Given the description of an element on the screen output the (x, y) to click on. 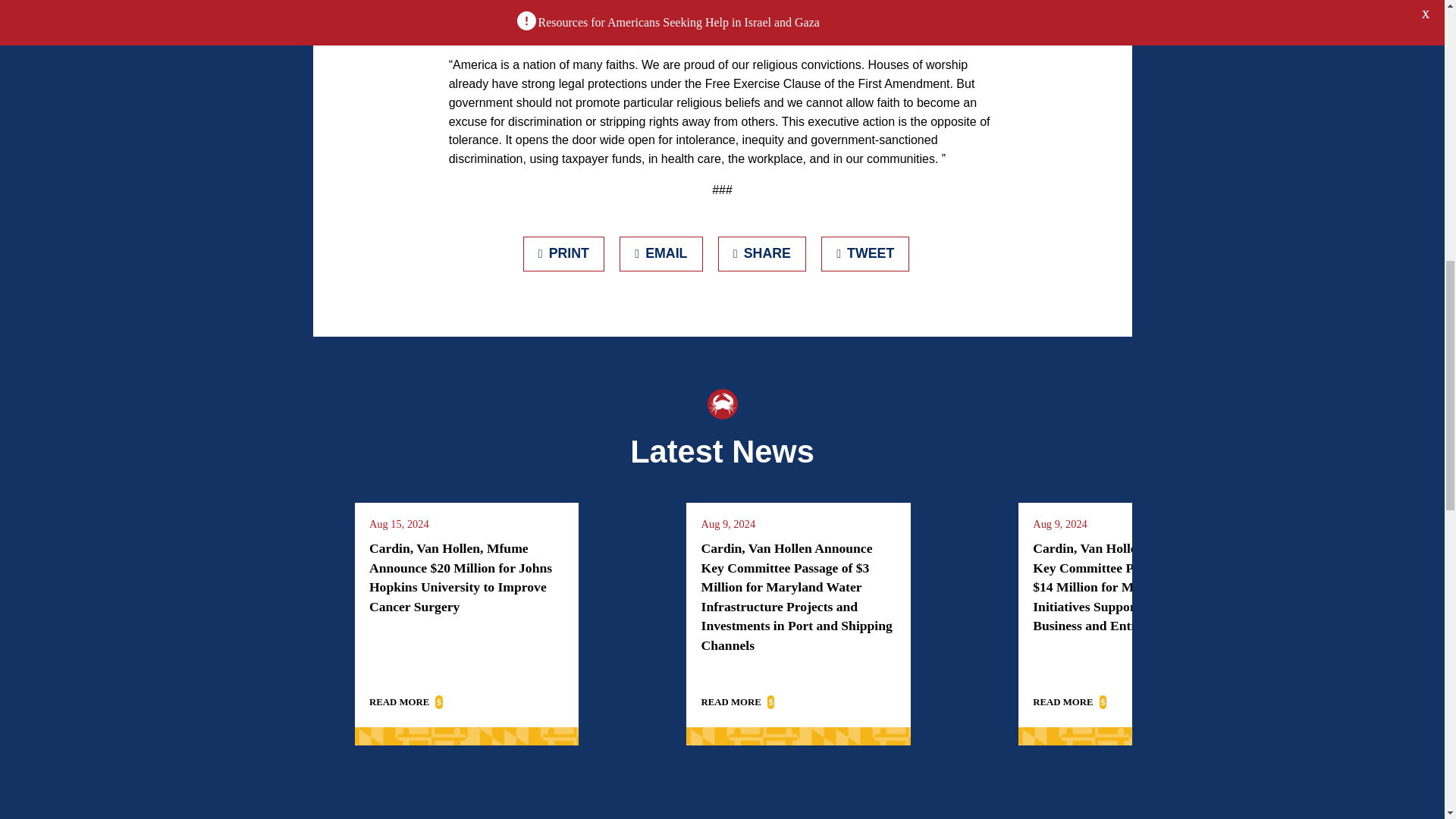
Tweet (865, 253)
Email (661, 253)
Crab (721, 404)
Share on Facebook (761, 253)
Print (563, 253)
